Given the description of an element on the screen output the (x, y) to click on. 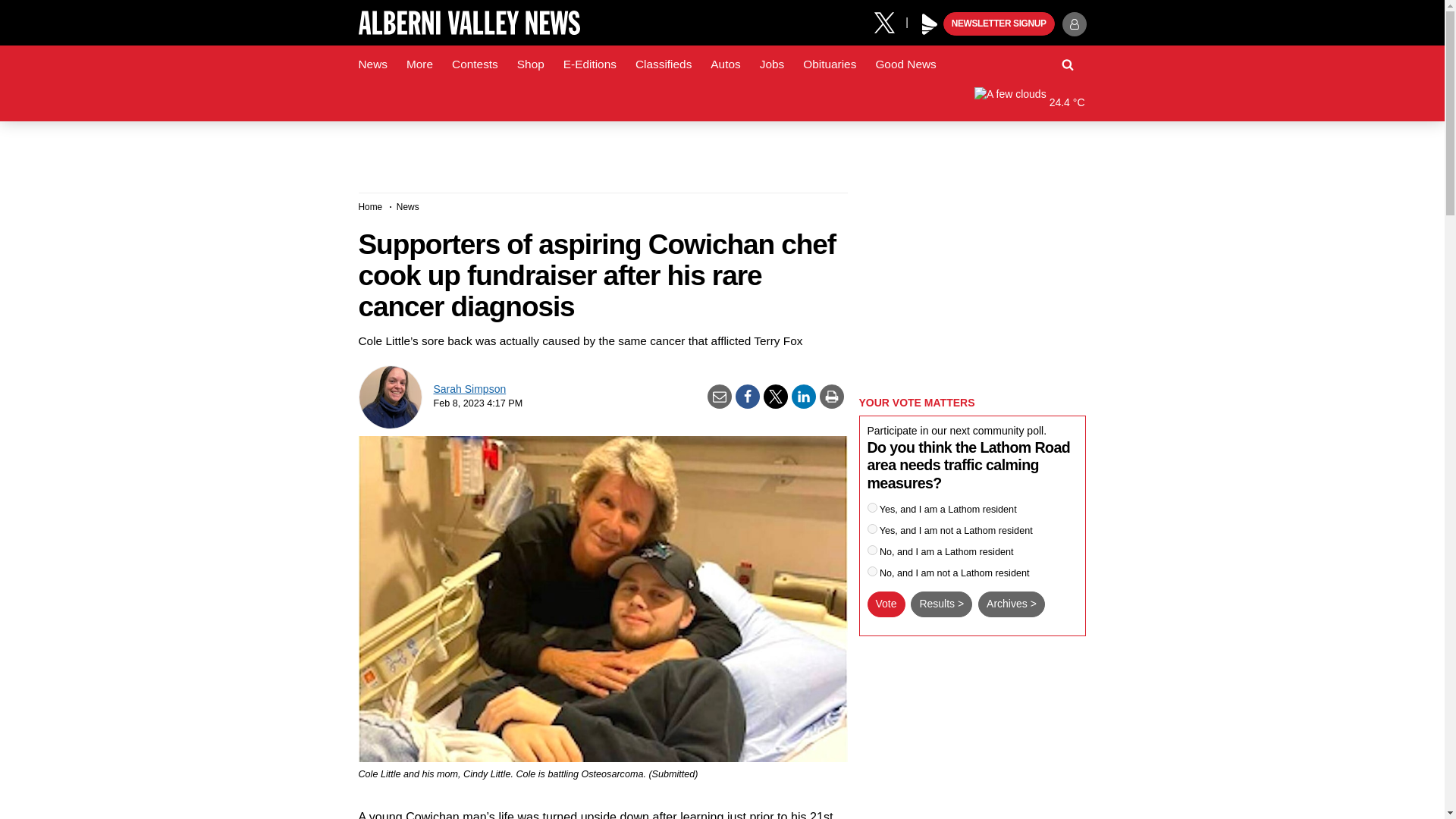
247 (872, 528)
X (889, 21)
Play (929, 24)
248 (872, 550)
249 (872, 571)
246 (872, 507)
NEWSLETTER SIGNUP (998, 24)
News (372, 64)
Black Press Media (929, 24)
